Given the description of an element on the screen output the (x, y) to click on. 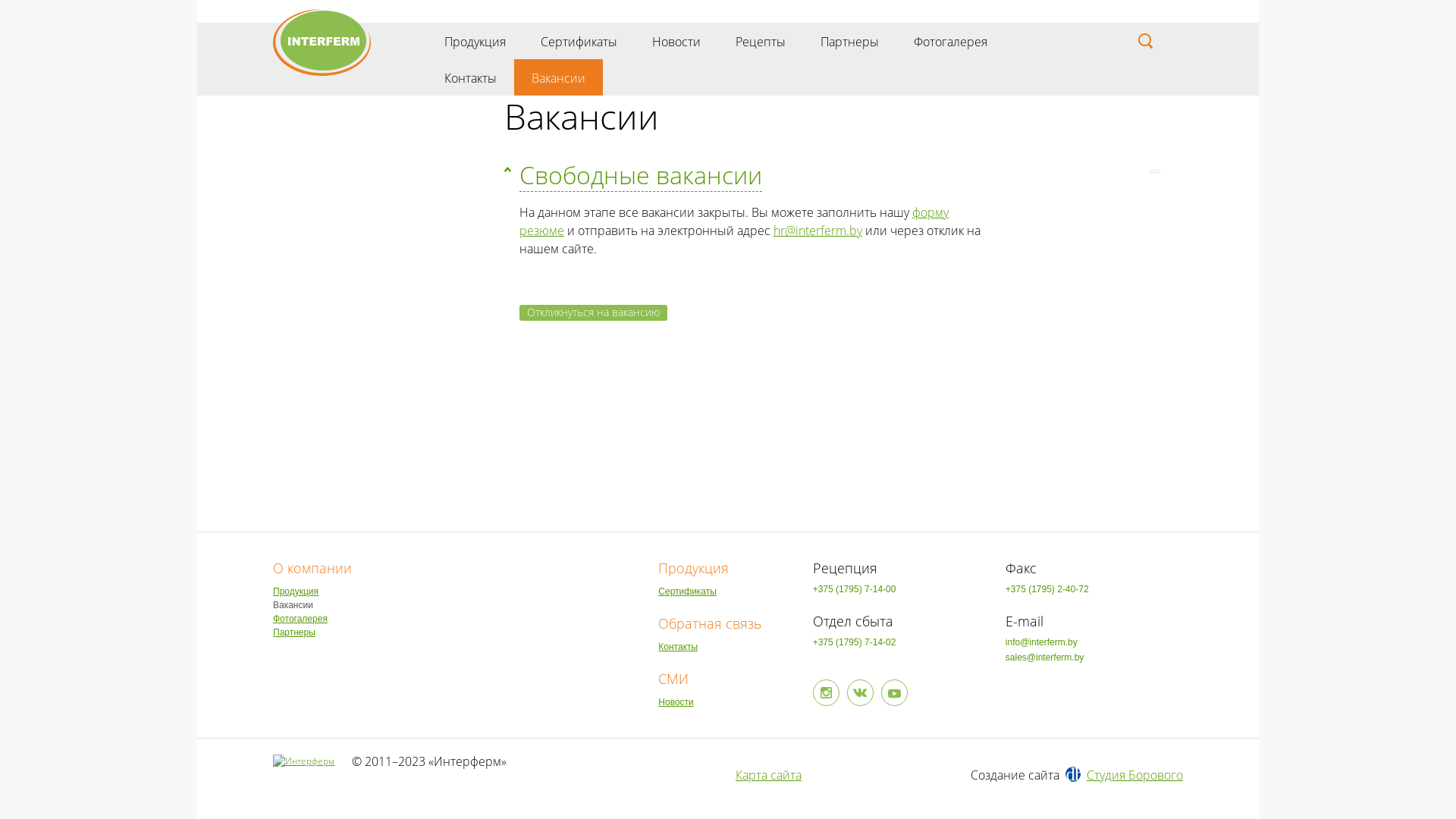
+375 (1795) 2-40-72 Element type: text (1094, 589)
sales@interferm.by Element type: text (1094, 657)
+375 (1795) 7-14-00 Element type: text (901, 589)
info@interferm.by Element type: text (1094, 642)
hr@interferm.by Element type: text (817, 230)
+375 (1795) 7-14-02 Element type: text (901, 642)
